Given the description of an element on the screen output the (x, y) to click on. 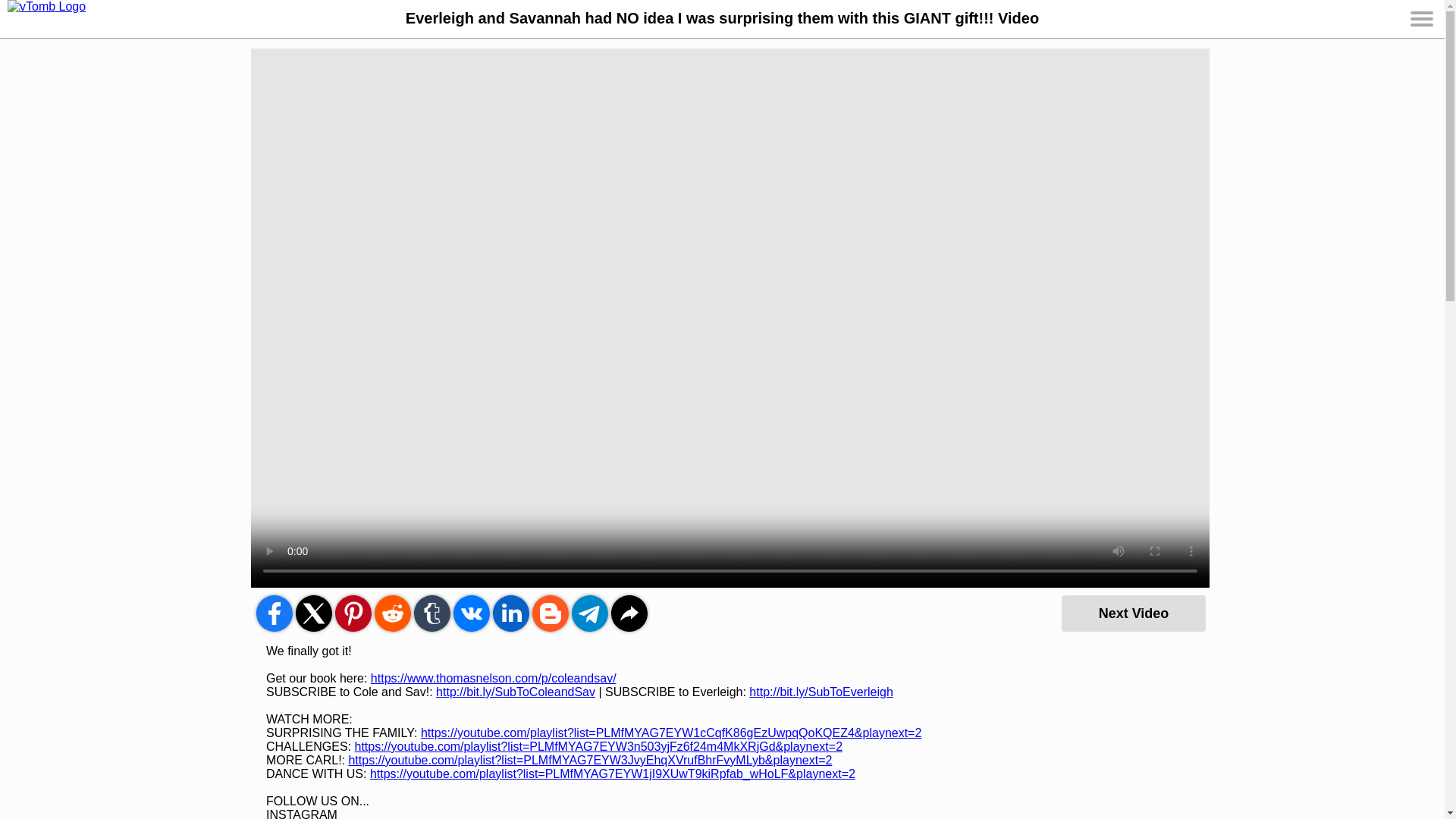
Share on Linkedin (511, 613)
Share on Telegram (590, 613)
vTomb (53, 18)
Share on Pinterest (352, 613)
Share on Facebook (274, 613)
Share on Twitter (313, 613)
Copy URL (629, 613)
Share on Tumblr (431, 613)
Generate Random YouTube Video (1133, 613)
Share on Reddit (392, 613)
Share on Blogger (550, 613)
Share on Vkontakte (470, 613)
Next Video (1133, 613)
